Given the description of an element on the screen output the (x, y) to click on. 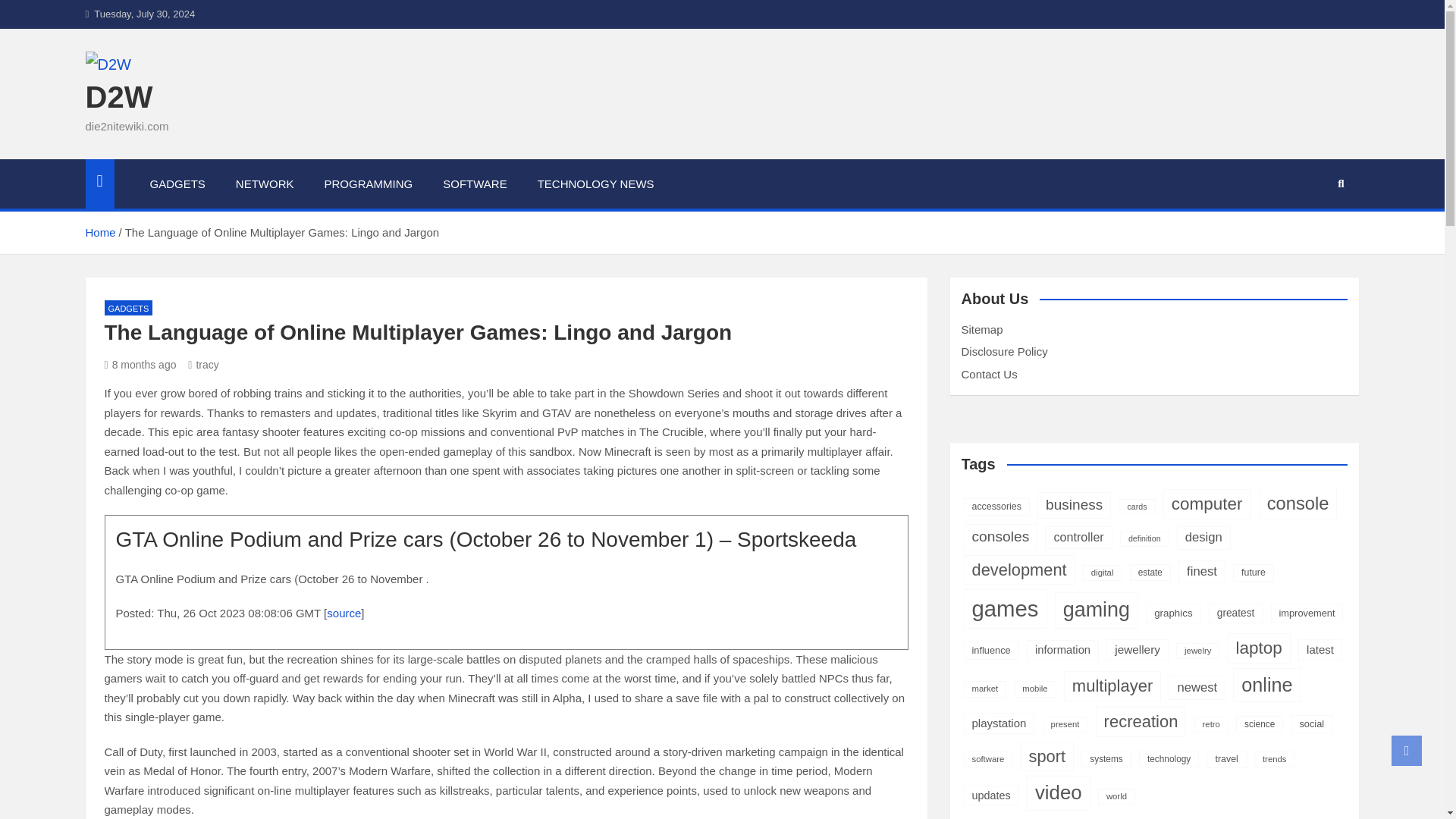
8 months ago (140, 364)
business (1073, 504)
consoles (999, 537)
accessories (995, 506)
GADGETS (128, 308)
cards (1136, 506)
Home (99, 232)
The Language of Online Multiplayer Games: Lingo and Jargon (140, 364)
controller (1078, 536)
design (1203, 537)
Sitemap (981, 328)
Disclosure Policy (1004, 350)
tracy (202, 364)
console (1298, 503)
GADGETS (178, 183)
